Given the description of an element on the screen output the (x, y) to click on. 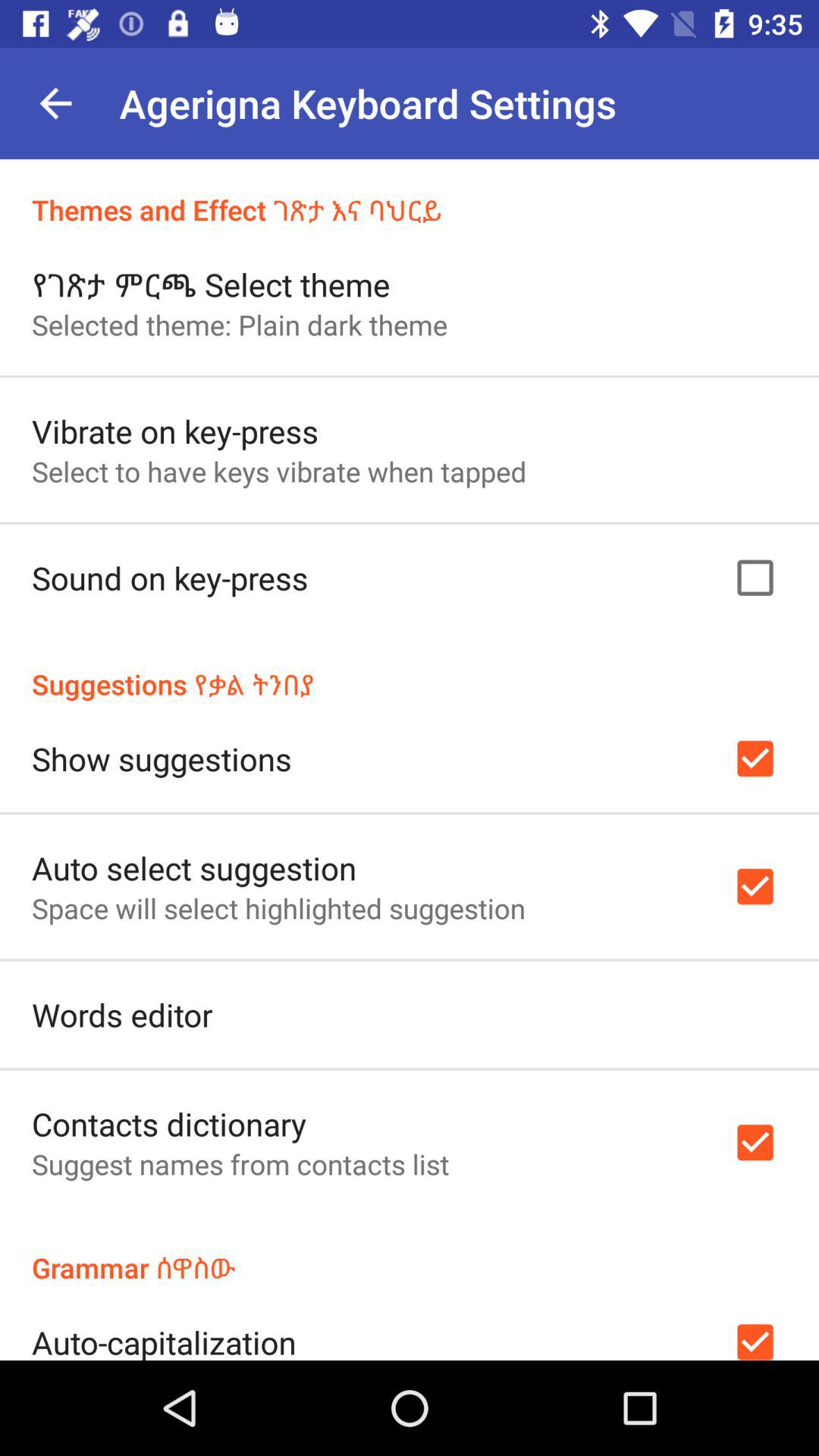
choose item below the auto select suggestion icon (278, 908)
